Given the description of an element on the screen output the (x, y) to click on. 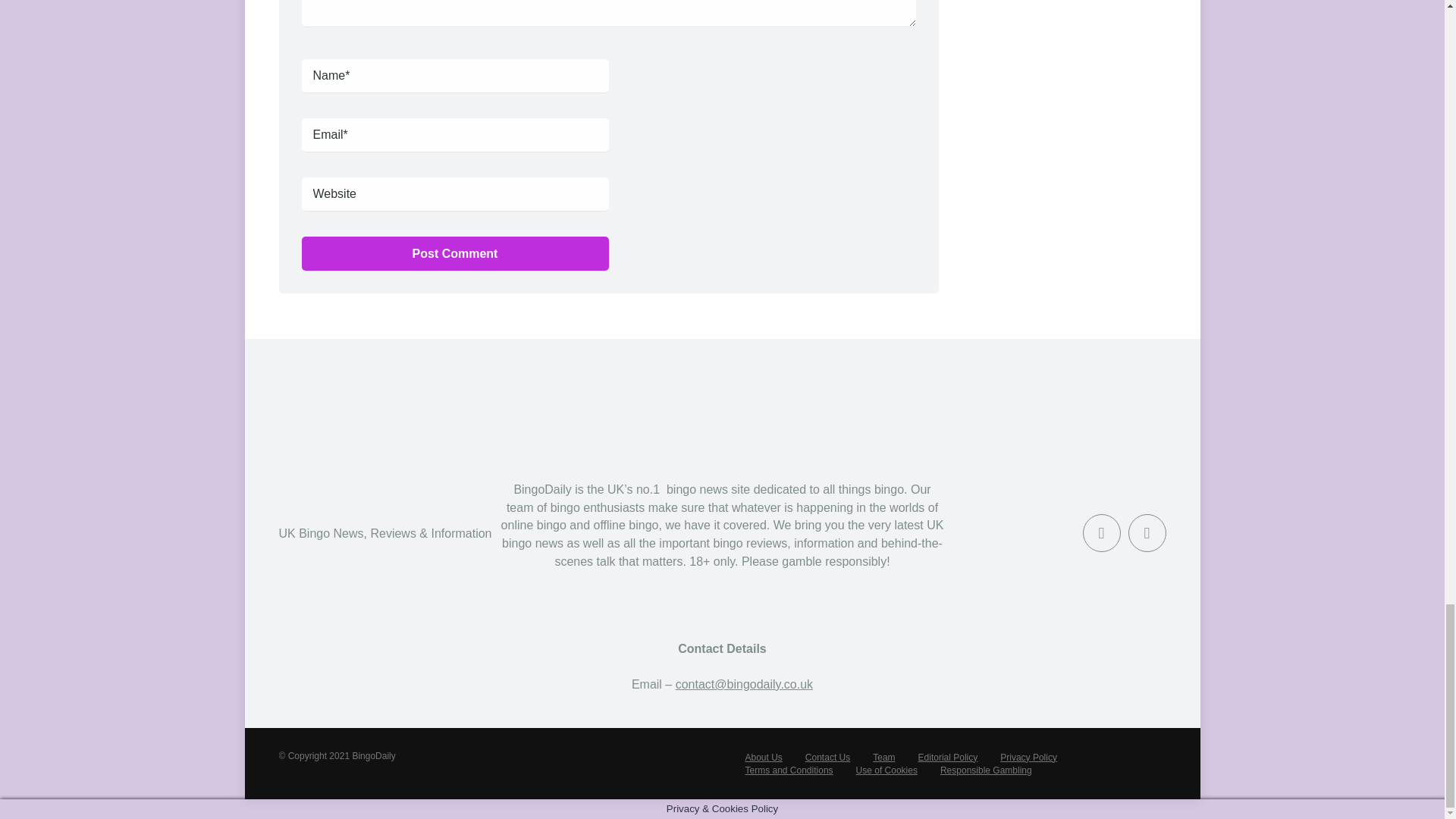
Post Comment (454, 253)
Facebook (1102, 533)
Twitter (1147, 533)
Post Comment (454, 253)
